Given the description of an element on the screen output the (x, y) to click on. 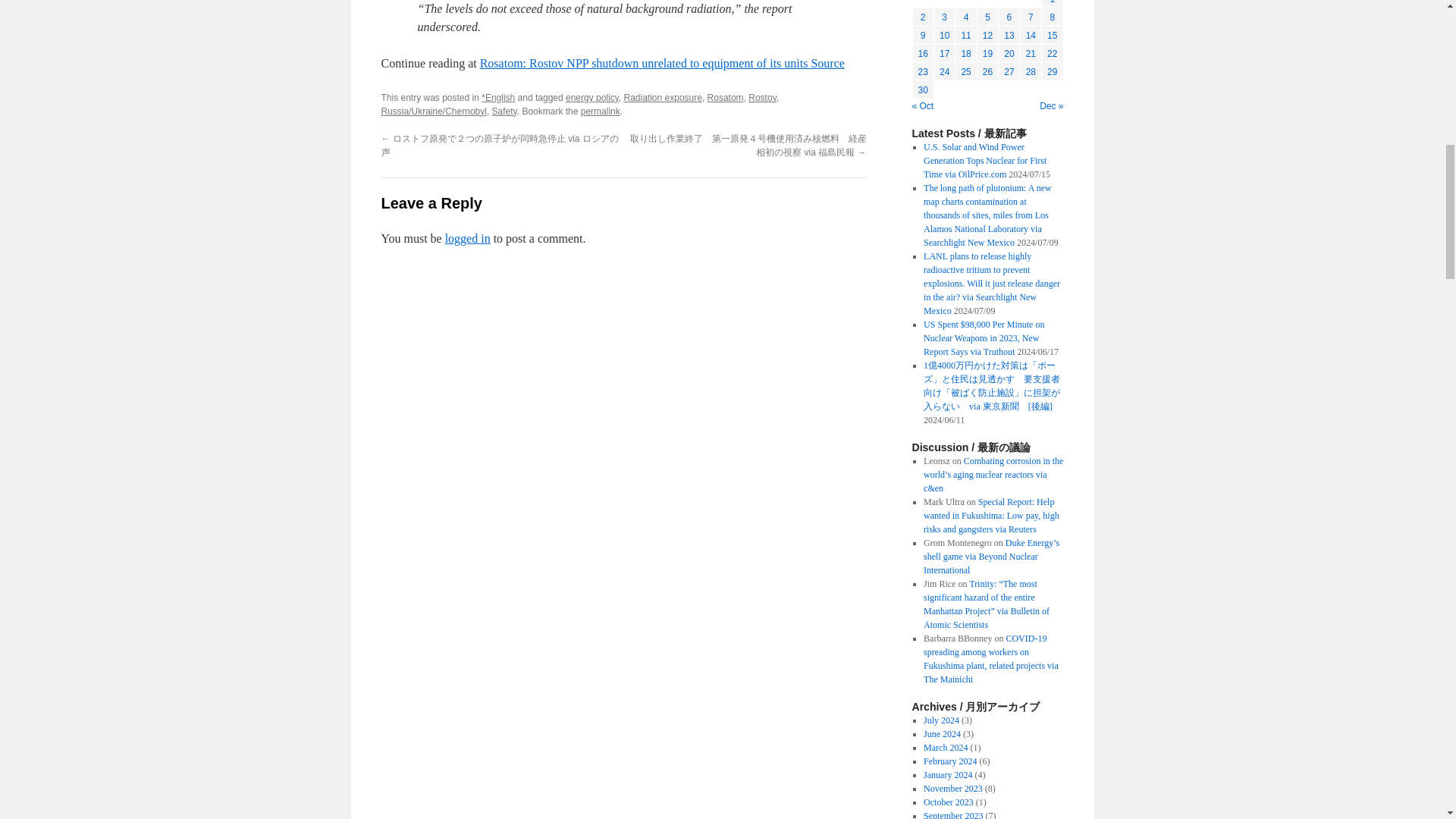
energy policy (592, 97)
Rosatom (725, 97)
Rostov (762, 97)
Safety (504, 111)
permalink (600, 111)
Radiation exposure (662, 97)
